Given the description of an element on the screen output the (x, y) to click on. 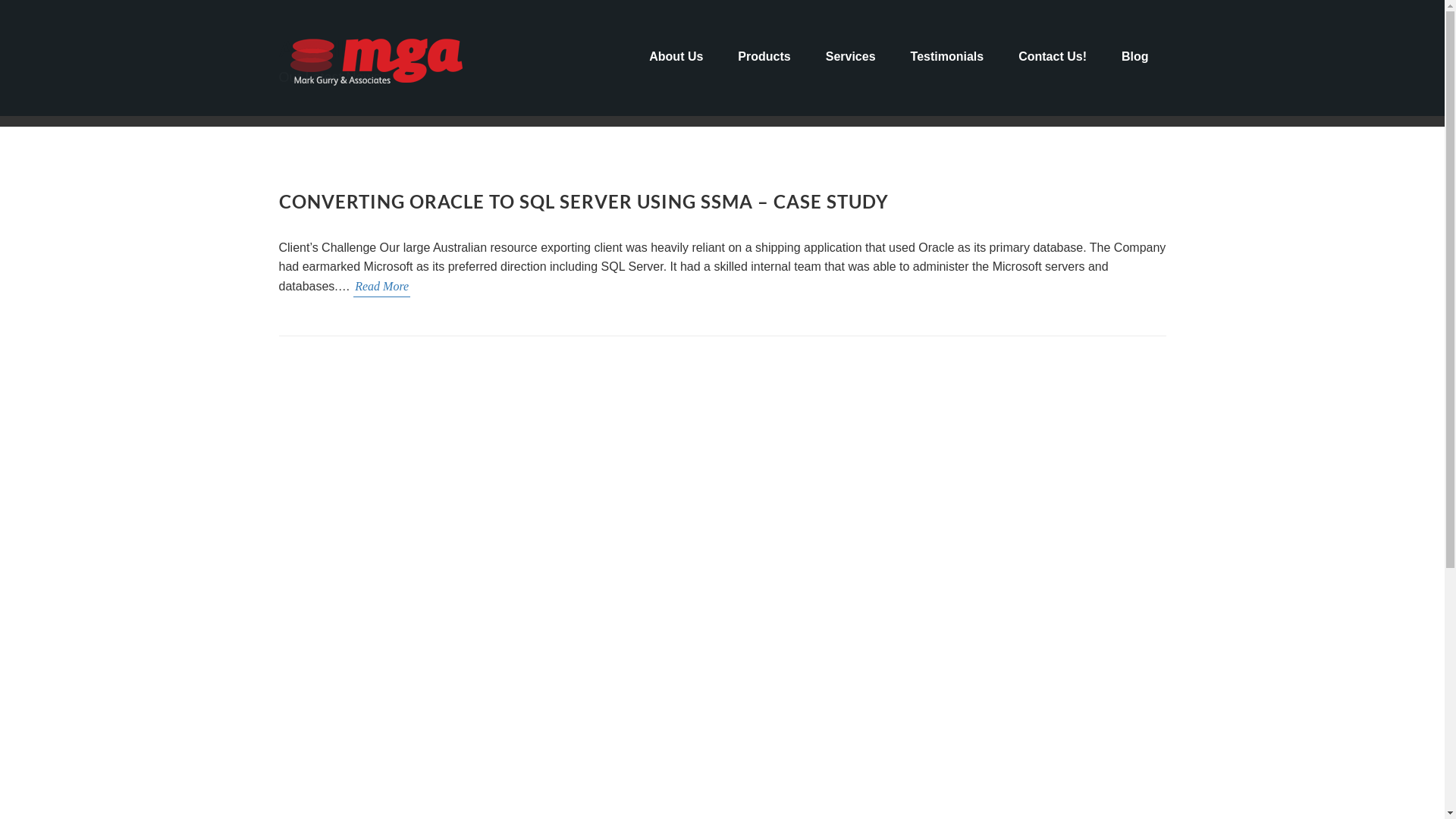
About Us Element type: text (675, 56)
Products Element type: text (763, 56)
Read More Element type: text (381, 286)
Testimonials Element type: text (947, 56)
Contact Us! Element type: text (1052, 56)
Services Element type: text (850, 56)
Blog Element type: text (1135, 56)
